Given the description of an element on the screen output the (x, y) to click on. 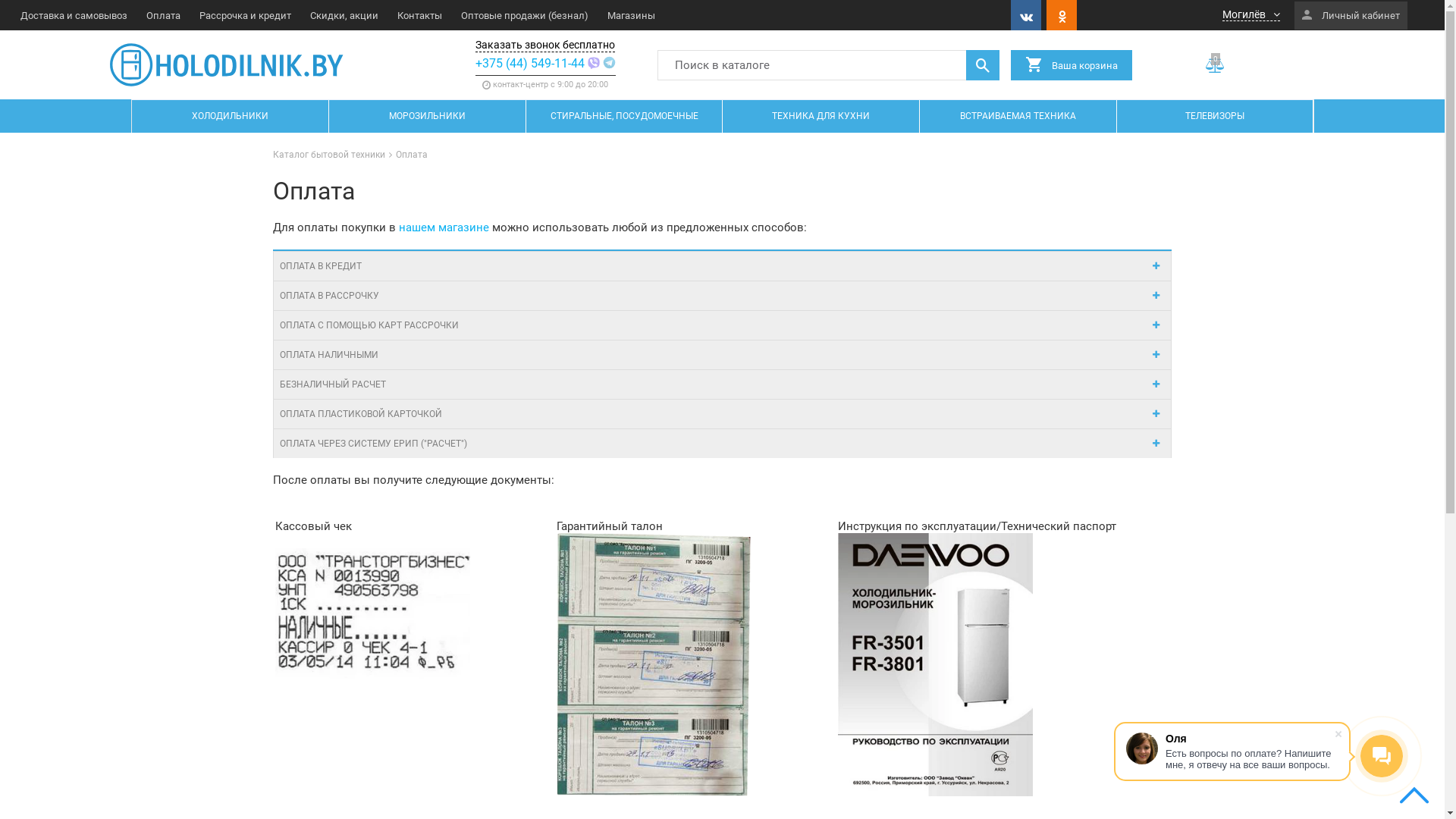
Telegram Element type: hover (608, 63)
0 Element type: text (1215, 64)
Viber Element type: hover (594, 63)
+375 (44) 549-11-44 Element type: text (529, 63)
